Given the description of an element on the screen output the (x, y) to click on. 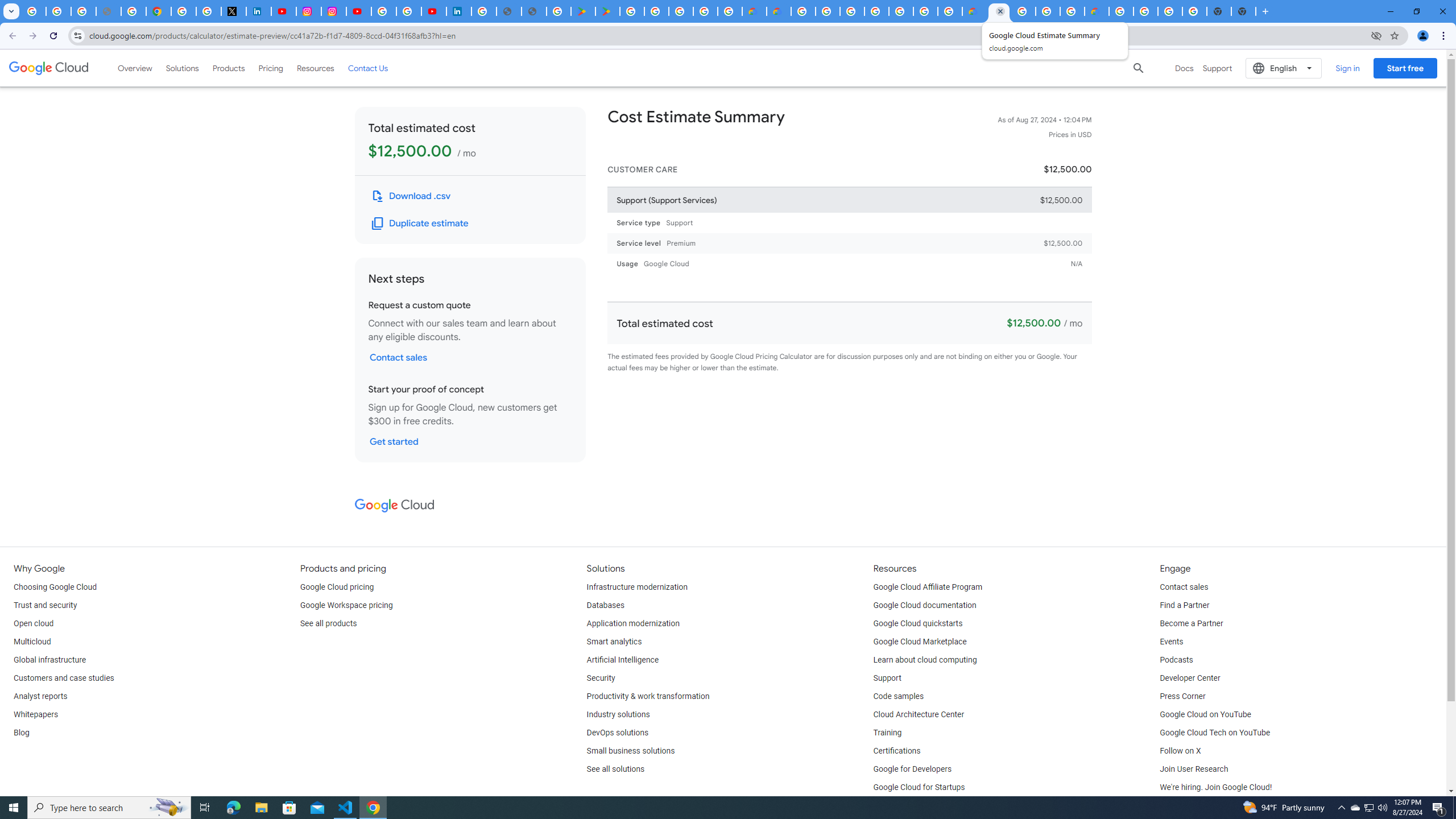
Browse Chrome as a guest - Computer - Google Chrome Help (1072, 11)
Contact Us (368, 67)
Sign in - Google Accounts (483, 11)
Google Cloud on YouTube (1204, 714)
DevOps solutions (617, 732)
Security (600, 678)
X (233, 11)
Google Cloud Tech on YouTube (1214, 732)
Blog (21, 732)
YouTube Content Monetization Policies - How YouTube Works (283, 11)
Privacy Help Center - Policies Help (133, 11)
Google Cloud Platform (1023, 11)
